Given the description of an element on the screen output the (x, y) to click on. 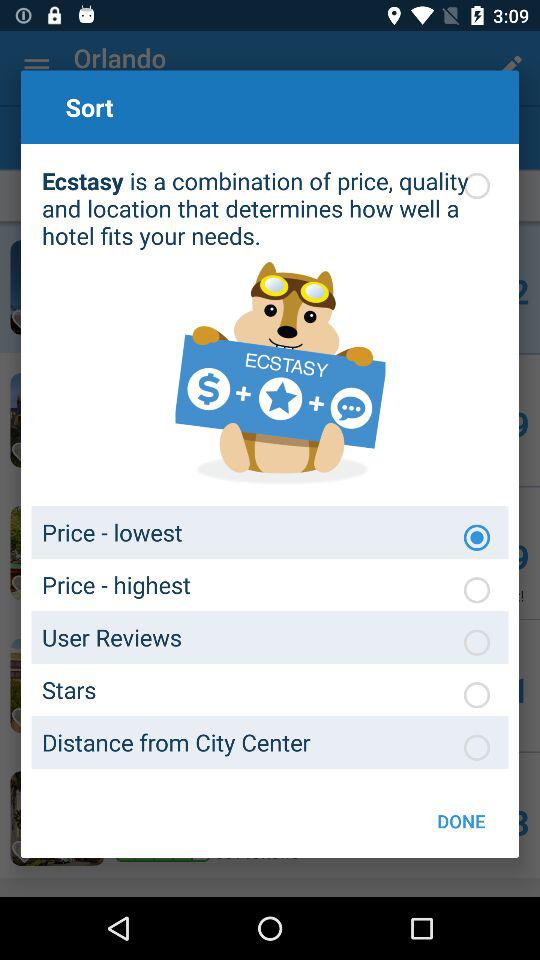
toggle distance from city center option (477, 747)
